Given the description of an element on the screen output the (x, y) to click on. 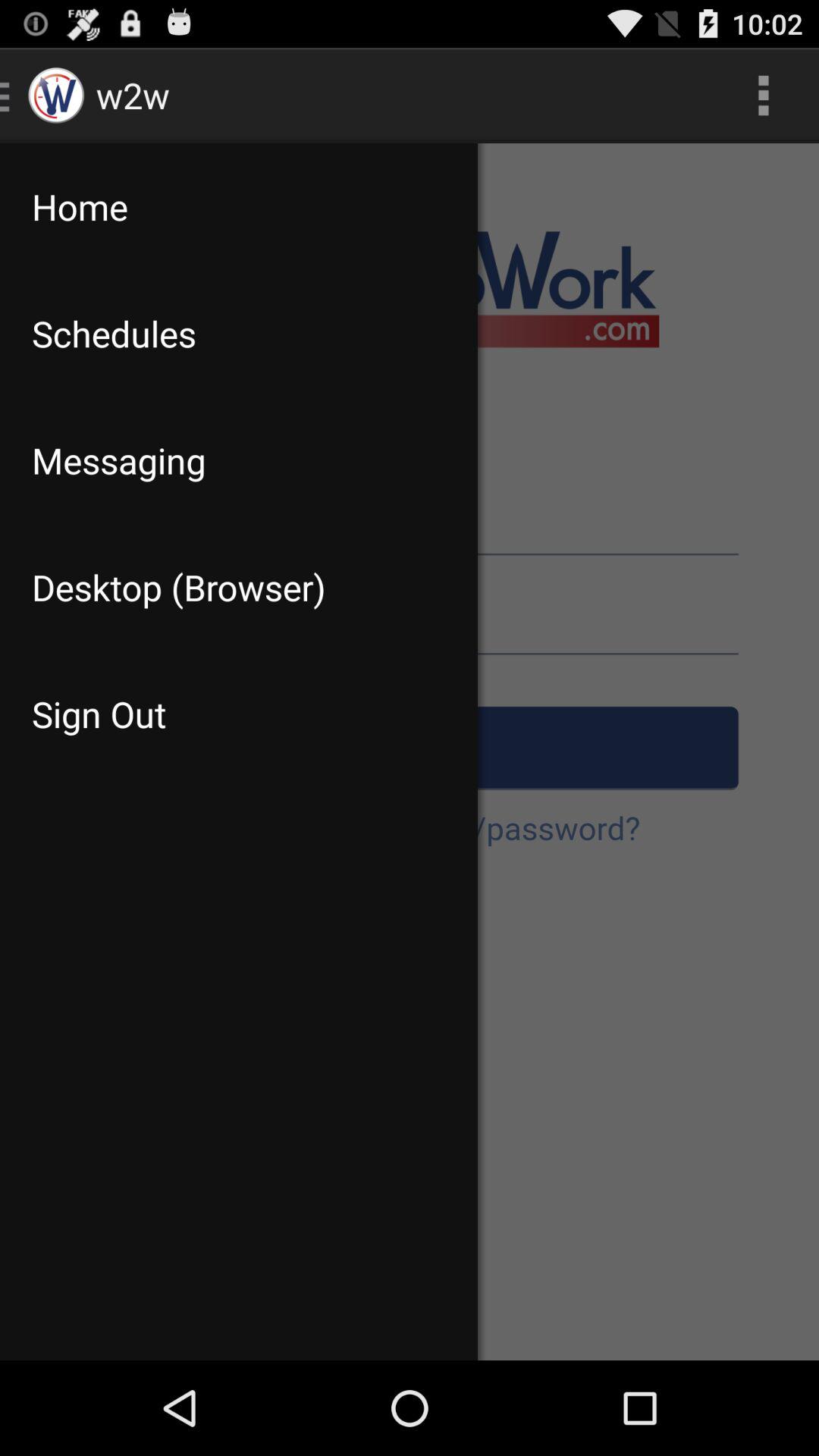
swipe to messaging item (238, 460)
